Given the description of an element on the screen output the (x, y) to click on. 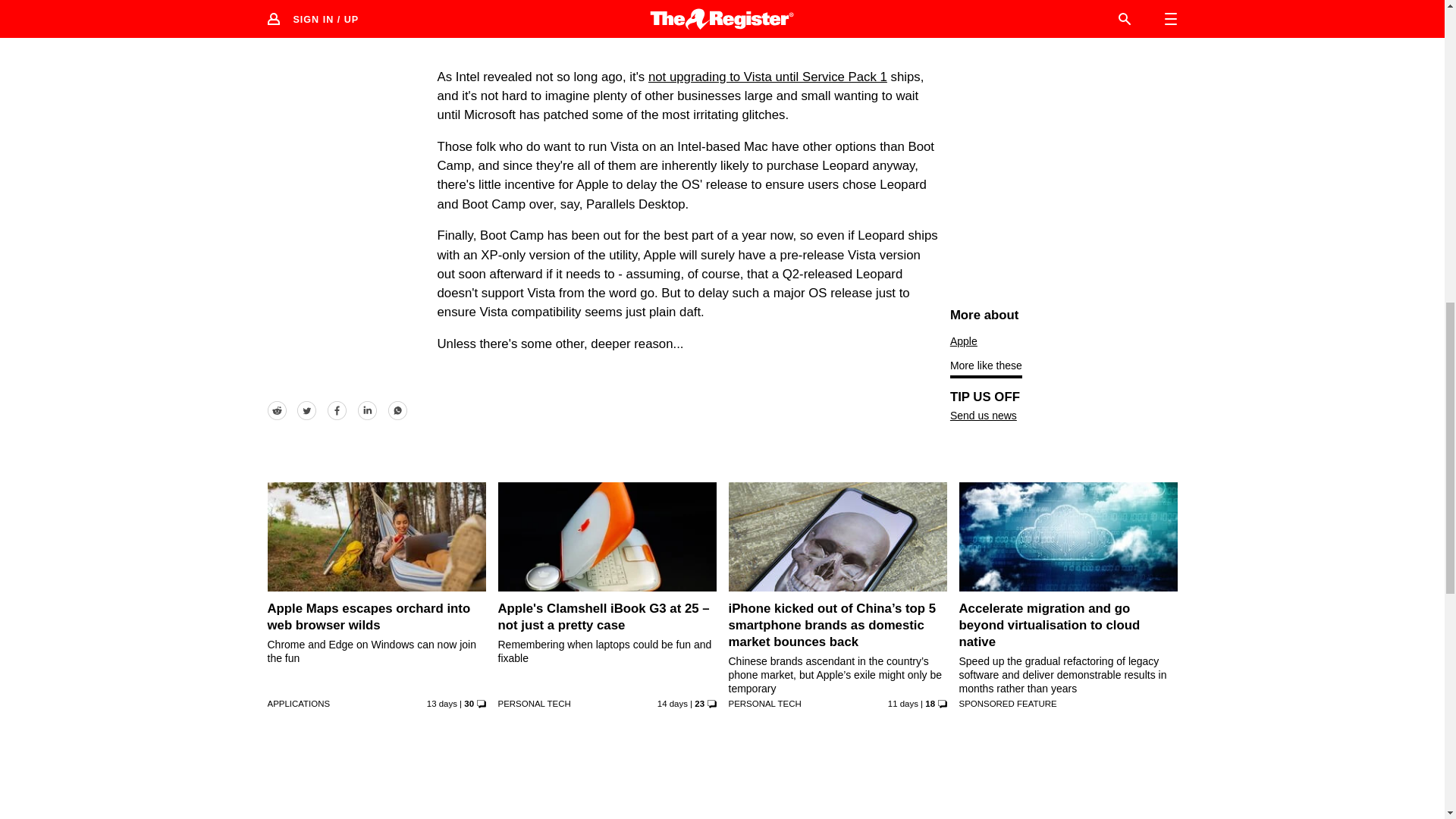
24 Jul 2024 9:25 (672, 703)
25 Jul 2024 15:34 (441, 703)
26 Jul 2024 19:26 (903, 703)
